Given the description of an element on the screen output the (x, y) to click on. 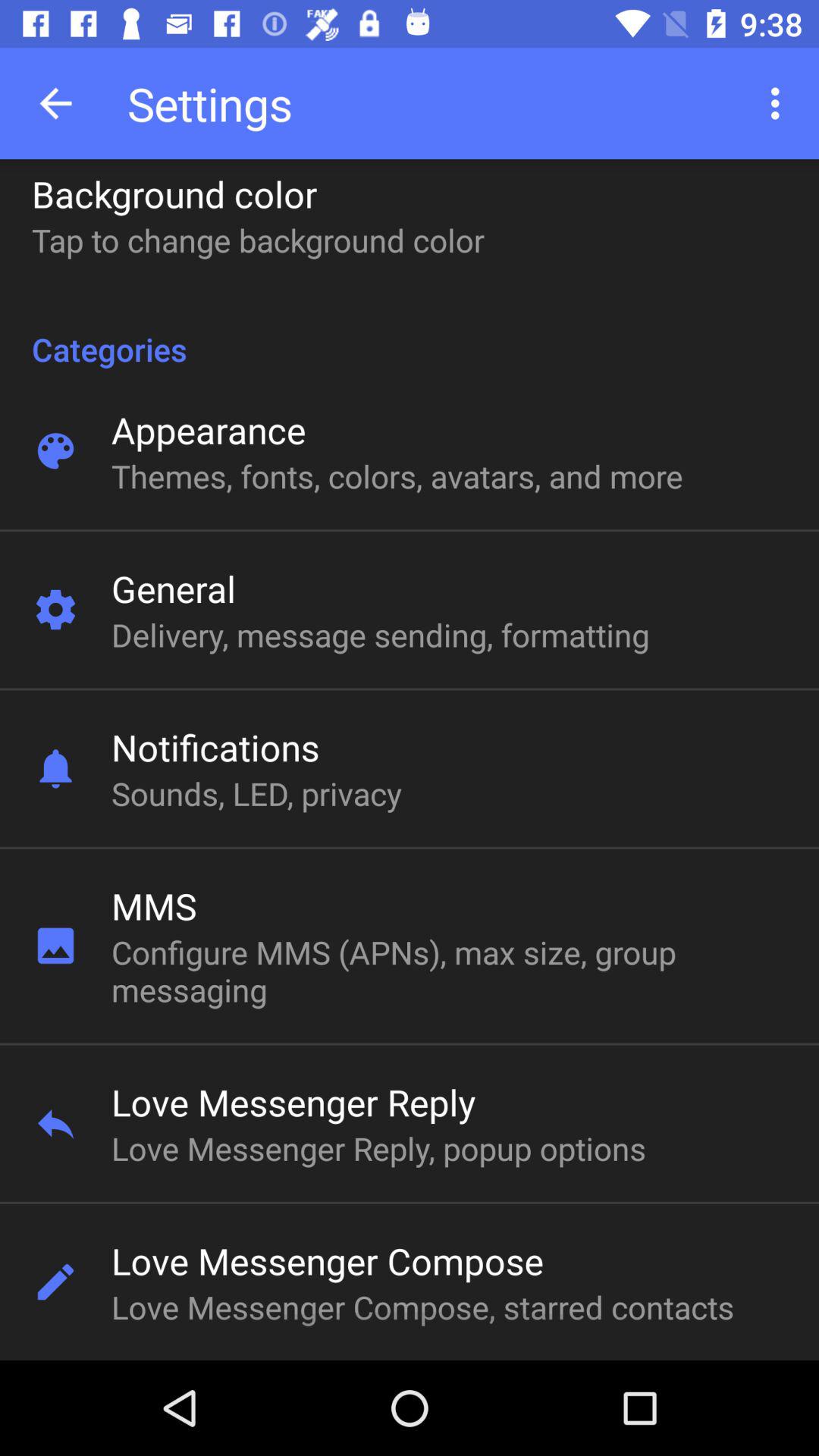
choose appearance item (208, 429)
